Given the description of an element on the screen output the (x, y) to click on. 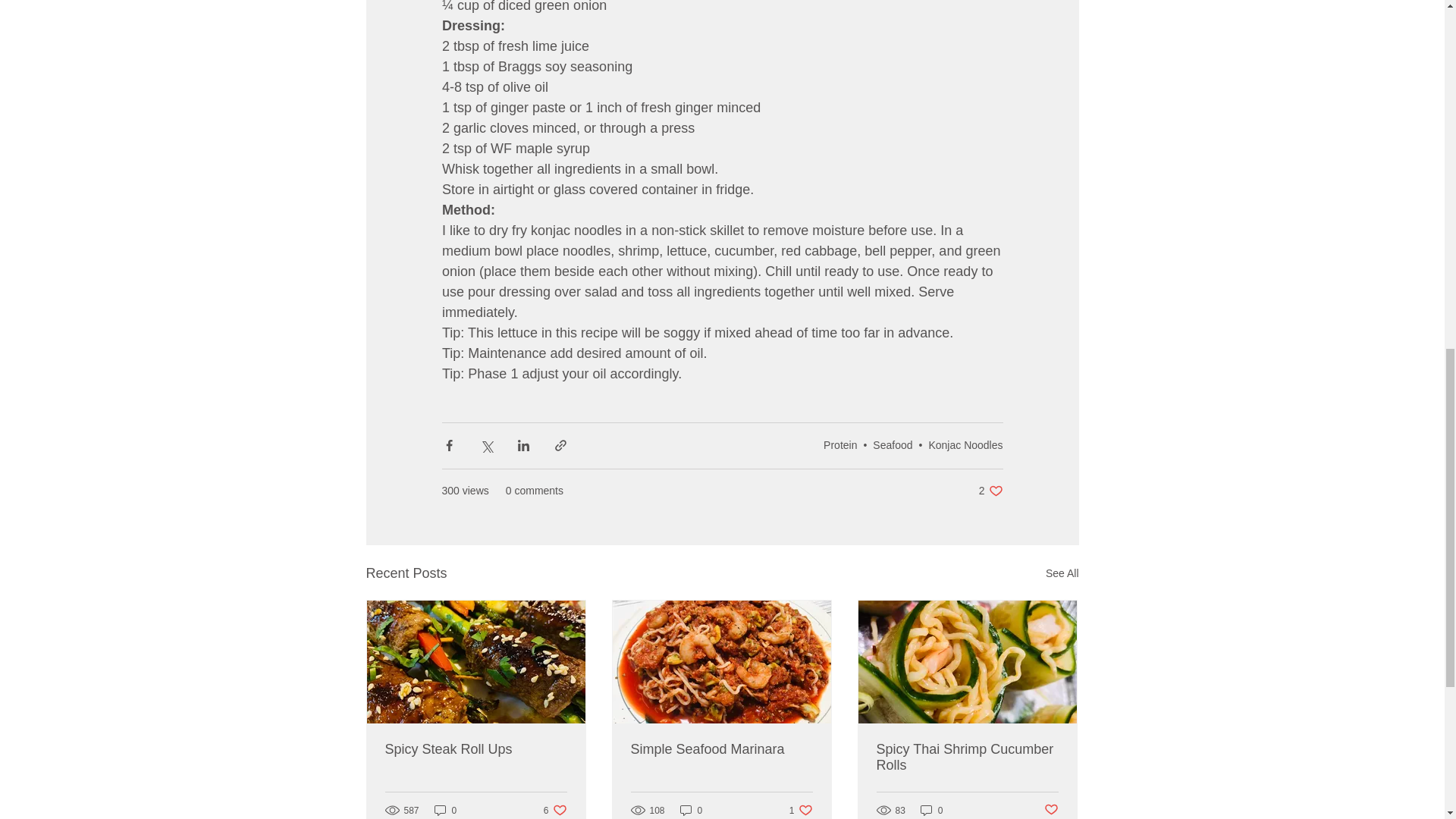
0 (445, 810)
0 (990, 490)
Spicy Thai Shrimp Cucumber Rolls (691, 810)
0 (967, 757)
Post not marked as liked (931, 810)
Konjac Noodles (1050, 810)
See All (965, 444)
Spicy Steak Roll Ups (1061, 573)
